Given the description of an element on the screen output the (x, y) to click on. 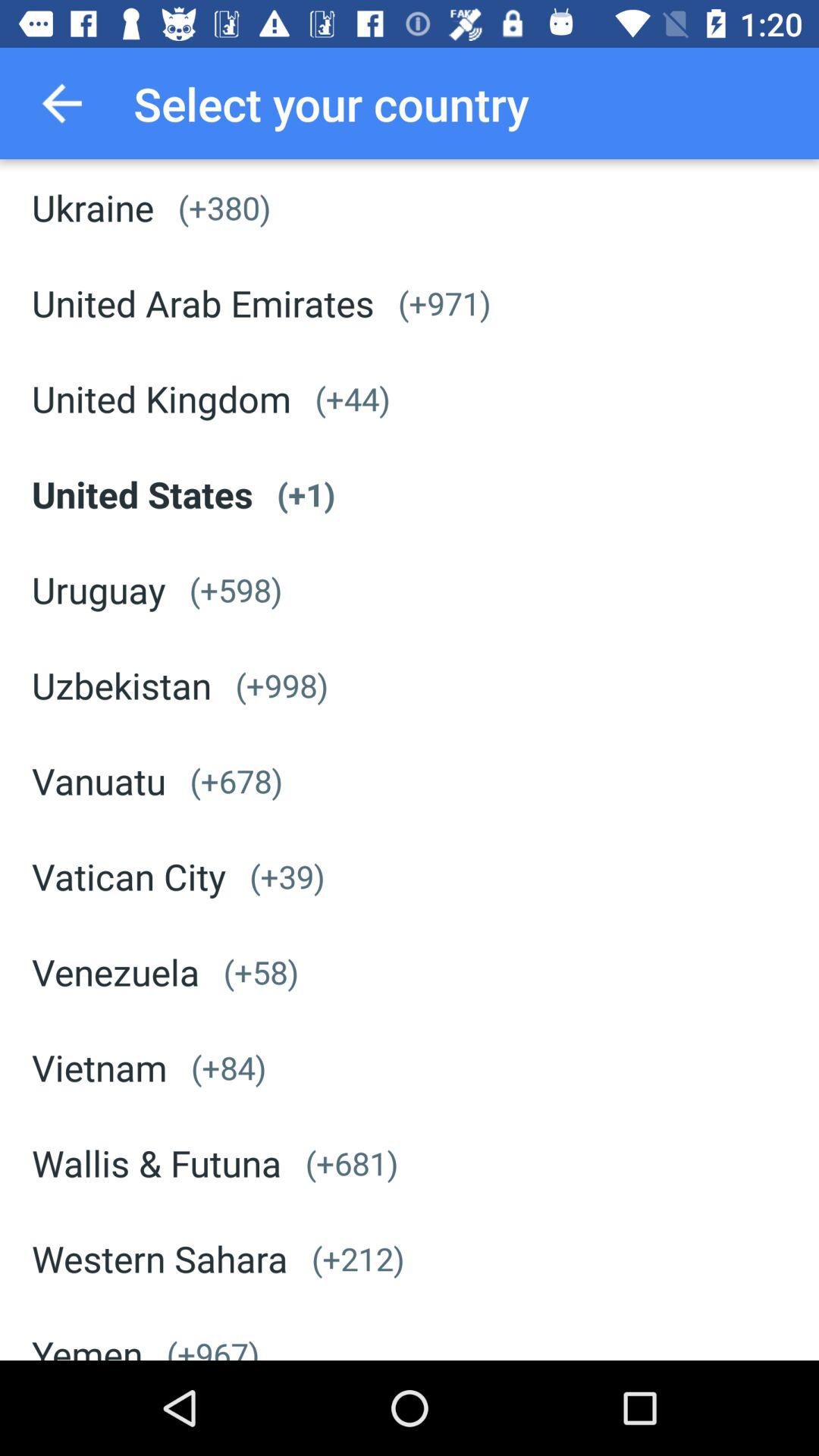
choose item next to yemen app (212, 1346)
